Given the description of an element on the screen output the (x, y) to click on. 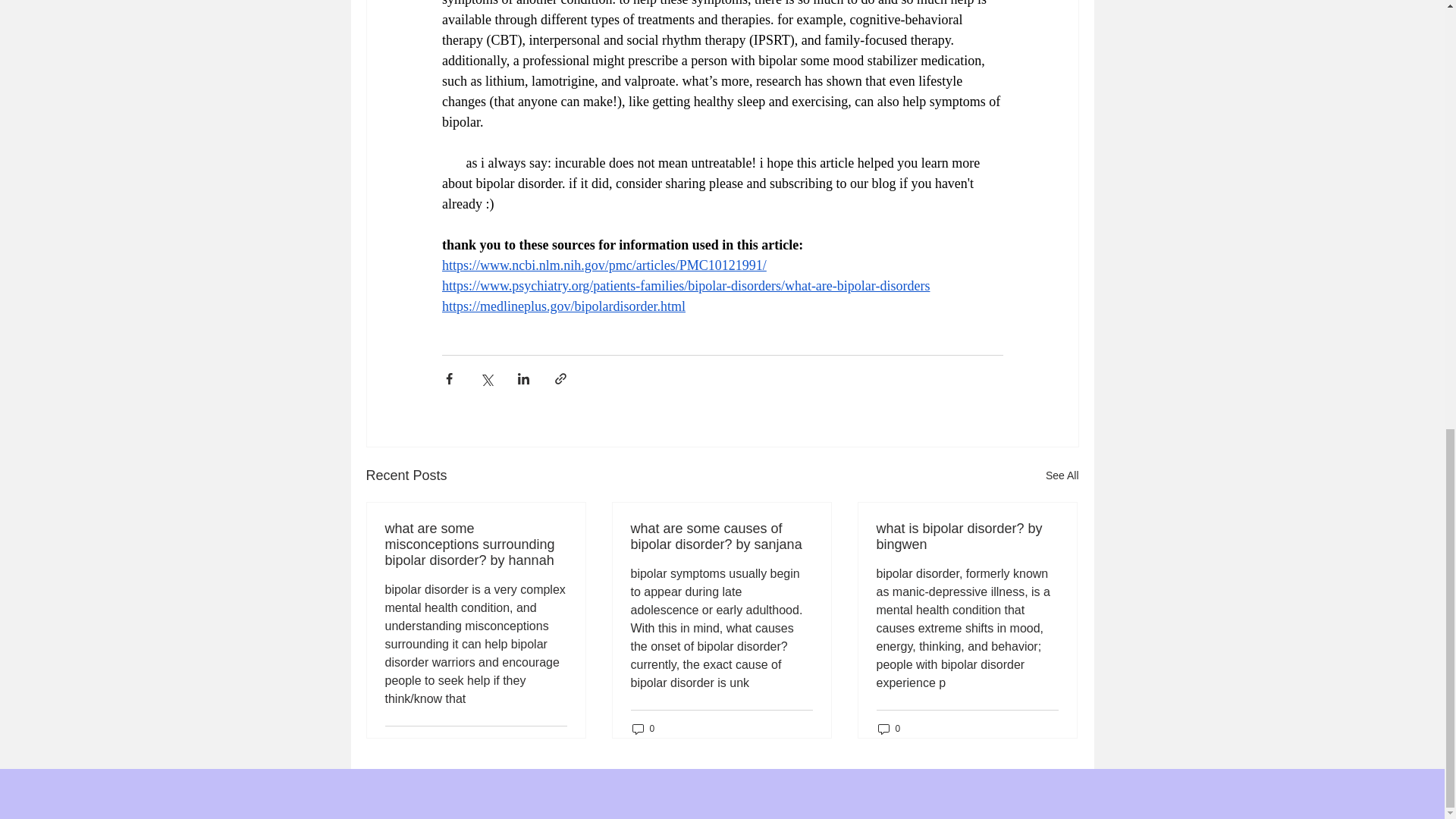
what is bipolar disorder? by bingwen (967, 536)
See All (1061, 475)
what are some causes of bipolar disorder? by sanjana (721, 536)
0 (643, 728)
0 (889, 728)
